Given the description of an element on the screen output the (x, y) to click on. 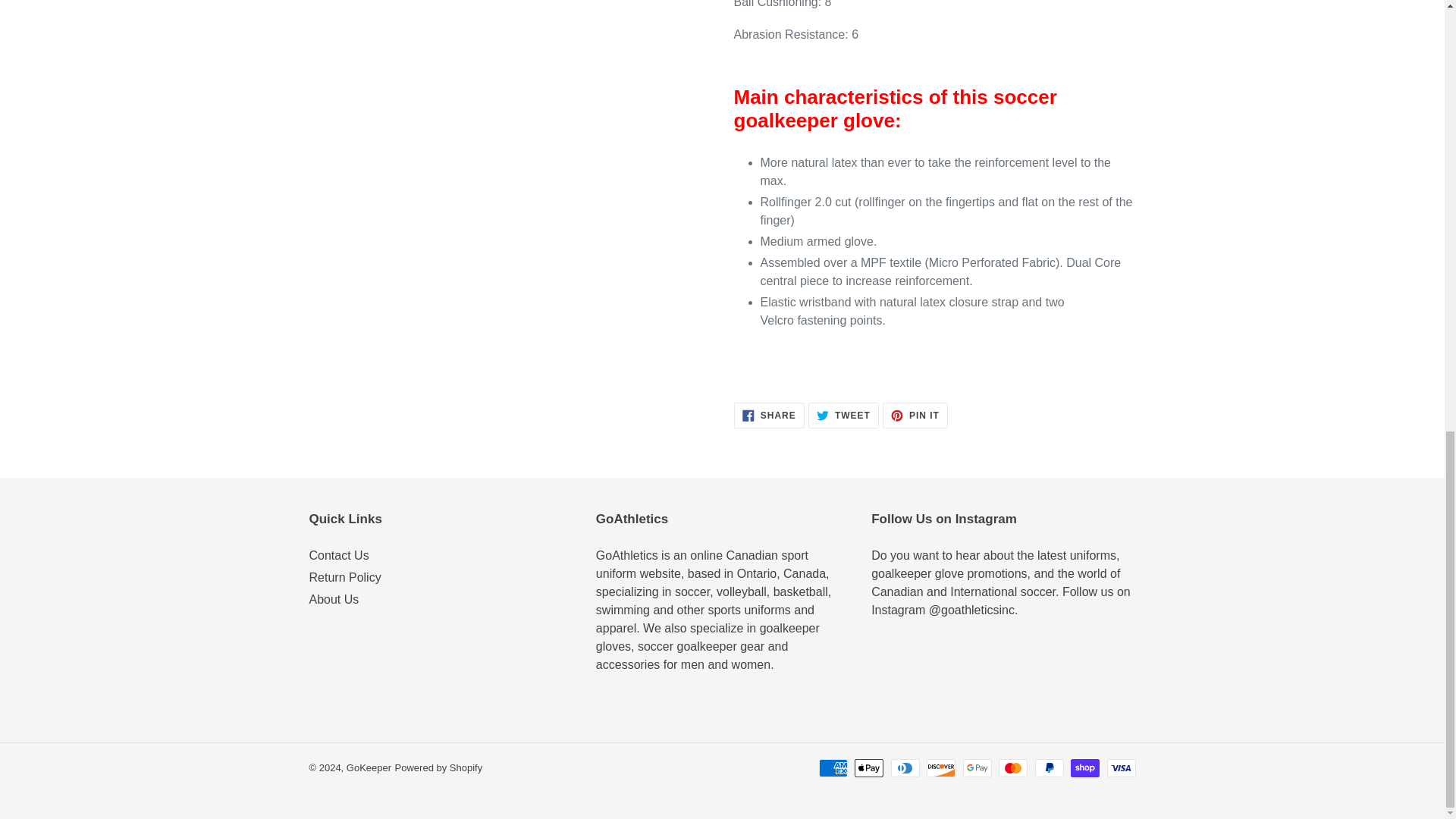
GoKeeper (368, 767)
Powered by Shopify (438, 767)
Return Policy (914, 415)
About Us (769, 415)
Contact Us (344, 576)
